Given the description of an element on the screen output the (x, y) to click on. 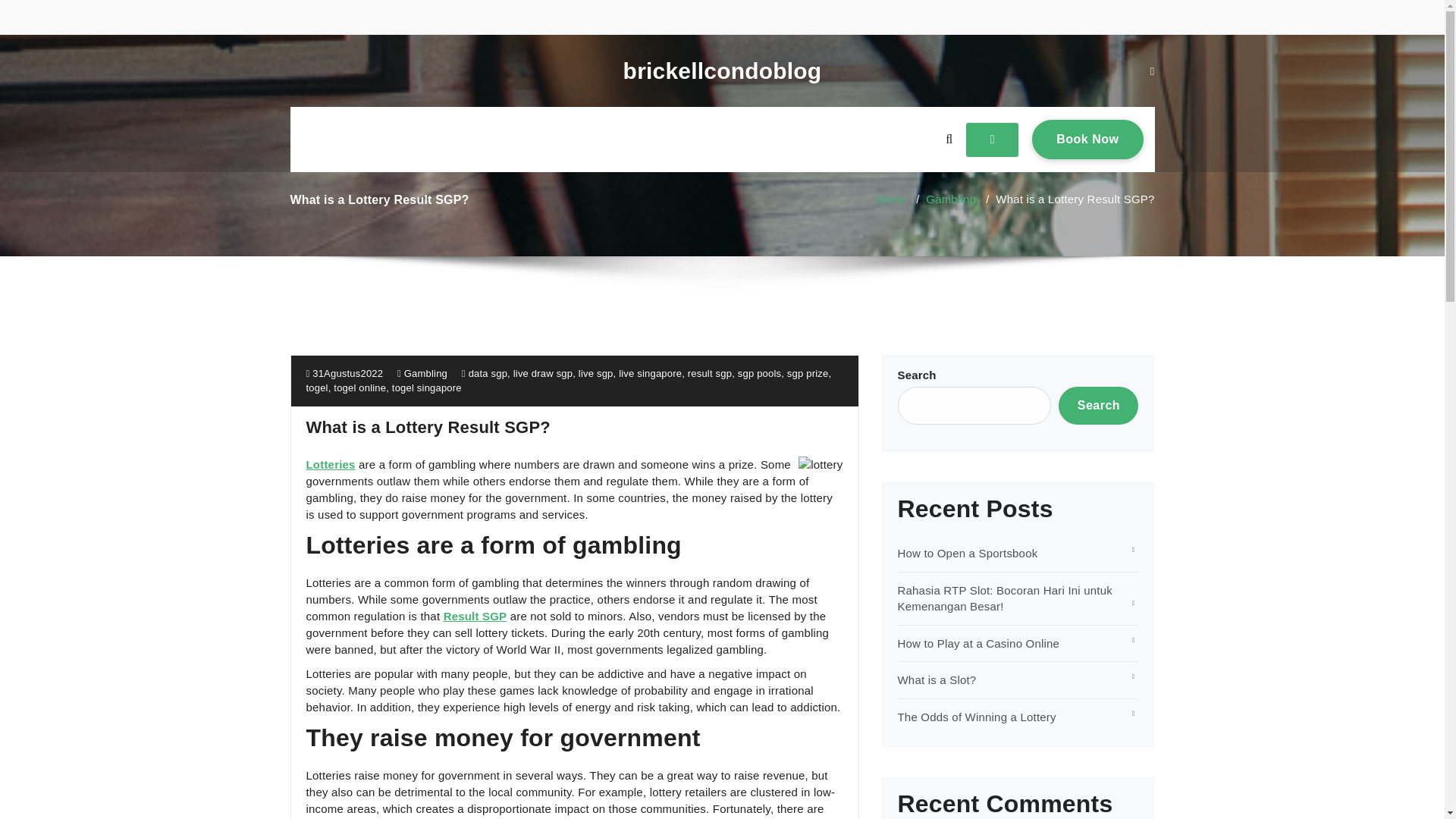
31Agustus2022 (344, 373)
togel singapore (426, 387)
Home (890, 198)
What is a Slot? (937, 679)
The Odds of Winning a Lottery (977, 716)
Gambling (950, 198)
live draw sgp (542, 373)
Search (1098, 405)
brickellcondoblog (722, 71)
Gambling (425, 373)
How to Play at a Casino Online (978, 643)
How to Open a Sportsbook (968, 553)
live singapore (649, 373)
Rahasia RTP Slot: Bocoran Hari Ini untuk Kemenangan Besar! (1005, 597)
result sgp (709, 373)
